Given the description of an element on the screen output the (x, y) to click on. 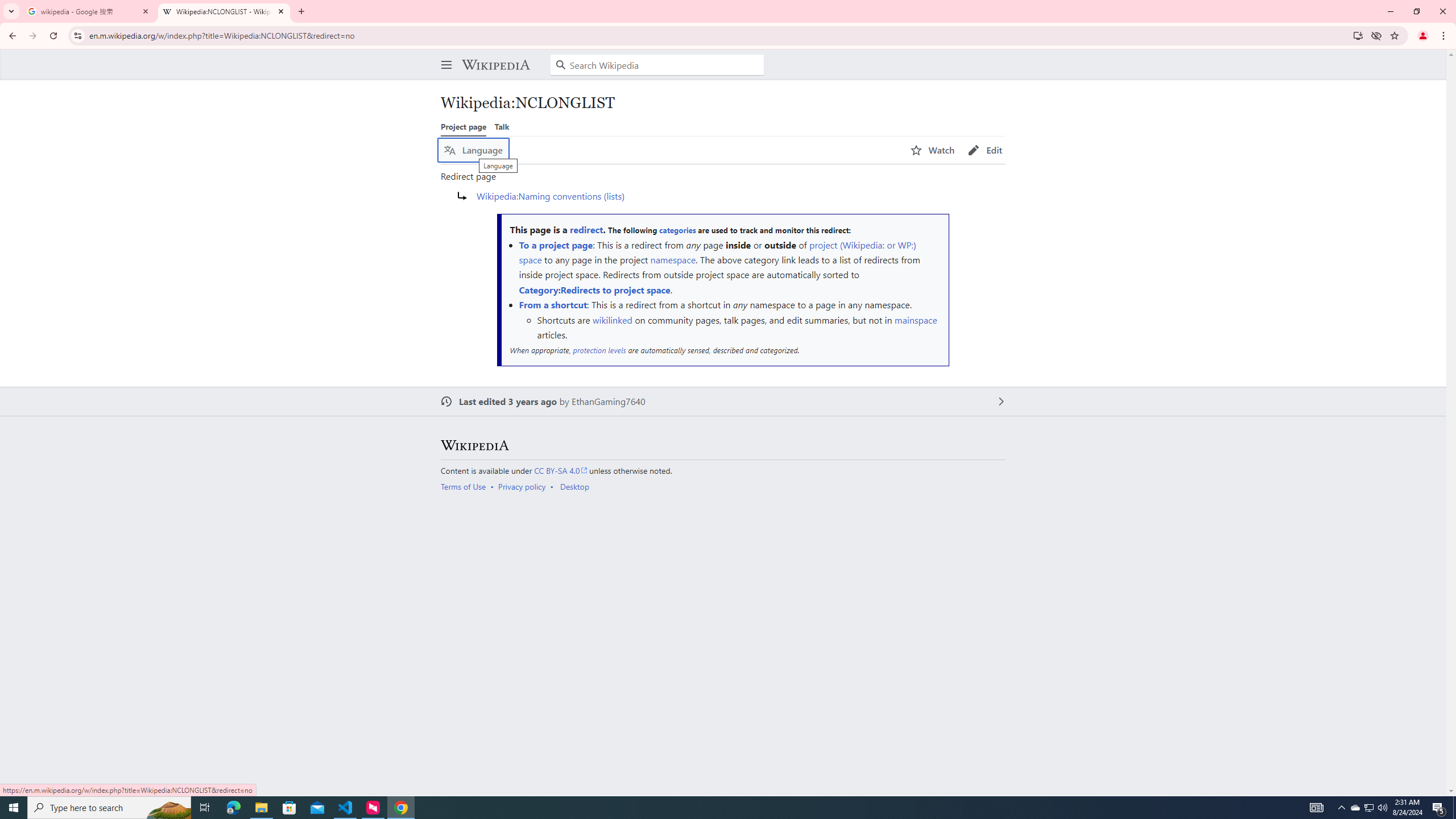
wikilinked (611, 319)
Terms of Use (462, 486)
Talk (501, 126)
Watch (932, 149)
AutomationID: footer-places-desktop-toggle (576, 487)
Desktop (574, 486)
AutomationID: page-actions-watch (932, 150)
Language (472, 149)
Wikipedia (495, 64)
